Given the description of an element on the screen output the (x, y) to click on. 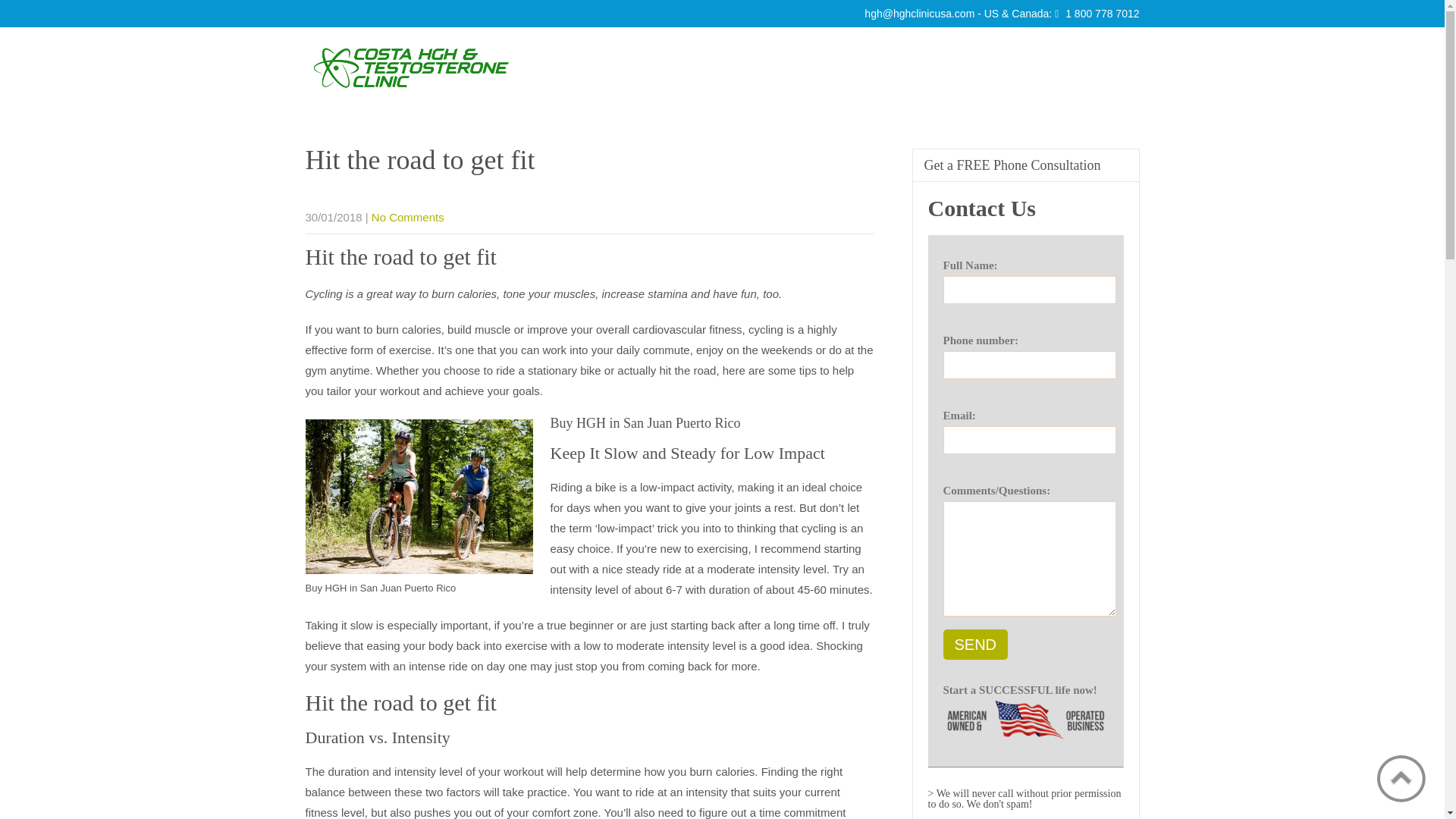
Send (976, 644)
Top of Page (1401, 778)
